Given the description of an element on the screen output the (x, y) to click on. 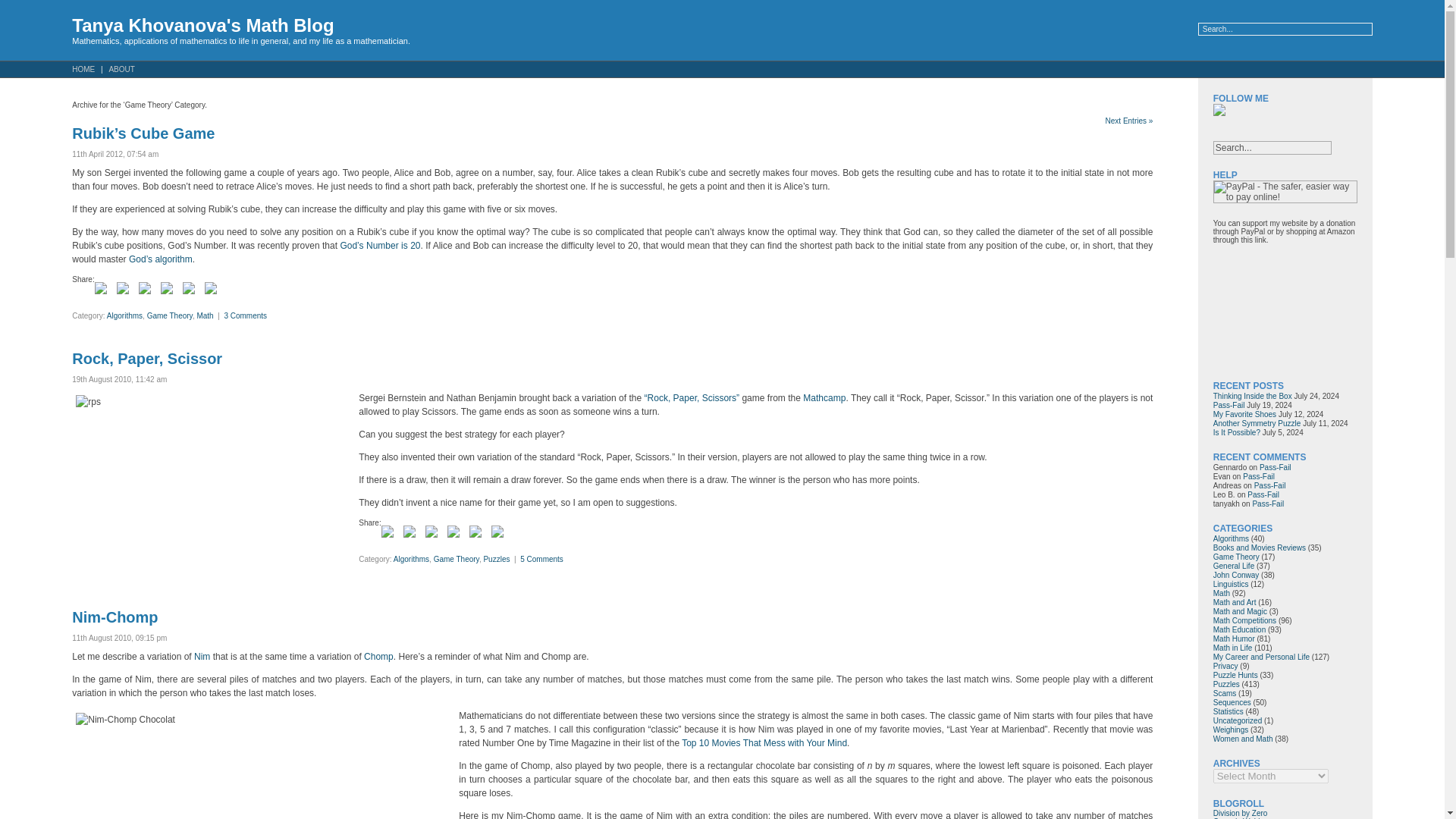
Search... (1272, 147)
HOME (85, 68)
Rock, Paper, Scissor (146, 358)
Nim-Chomp (114, 617)
Share by email (213, 290)
Pin it with Pinterest (169, 290)
Share on Facebook (100, 287)
Share on Linkedin (189, 287)
Pin it with Pinterest (166, 287)
Share on Reddit (147, 290)
Top 10 Movies That Mess with Your Mind (764, 742)
Share on Reddit (144, 287)
Permanent Link to Rock, Paper, Scissor (146, 358)
Nim (201, 656)
